Given the description of an element on the screen output the (x, y) to click on. 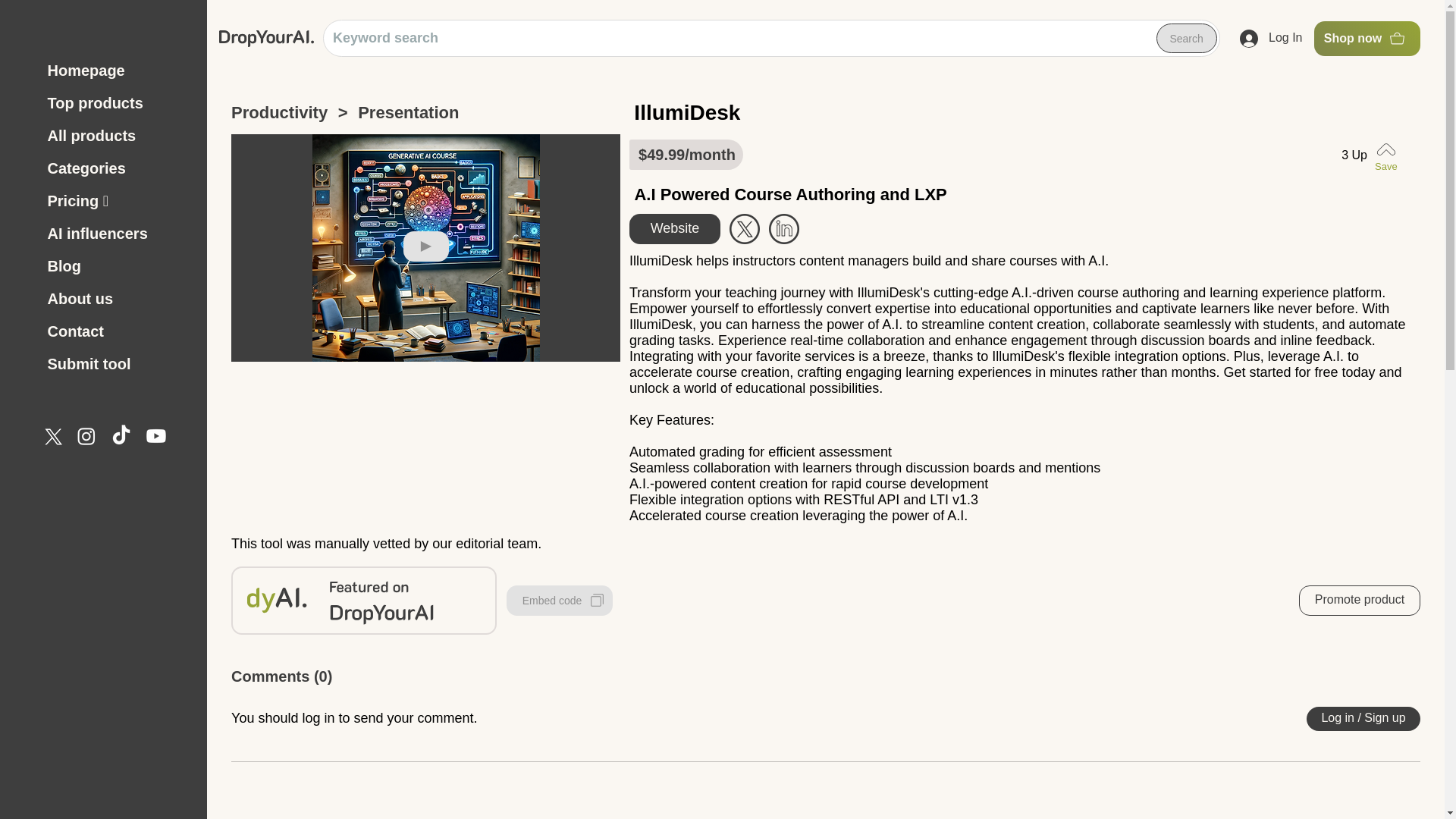
Log In (1270, 38)
Search (1186, 38)
Save (1388, 155)
Start Now (783, 228)
Website (674, 228)
Embed code (559, 600)
Submit tool (117, 364)
Categories (117, 168)
About us (117, 298)
AI influencers (117, 233)
Homepage (117, 70)
Contact (117, 331)
Top products (117, 102)
All products (117, 135)
Blog (117, 266)
